Given the description of an element on the screen output the (x, y) to click on. 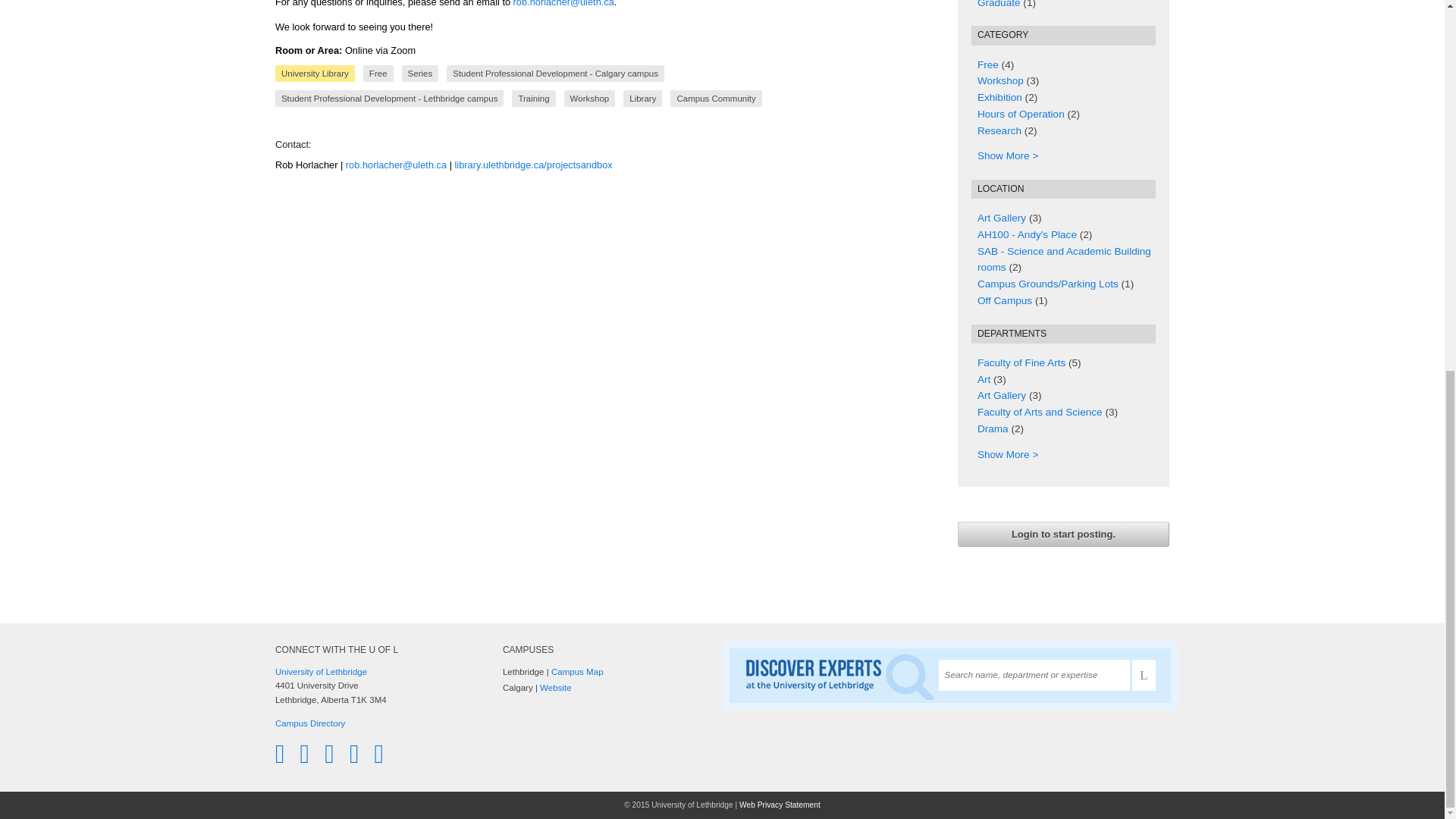
Hours of Operation (1020, 113)
Research (999, 130)
Free (987, 64)
Login to start posting. (1063, 534)
Exhibition (999, 97)
Workshop (999, 80)
Graduate (998, 4)
